Given the description of an element on the screen output the (x, y) to click on. 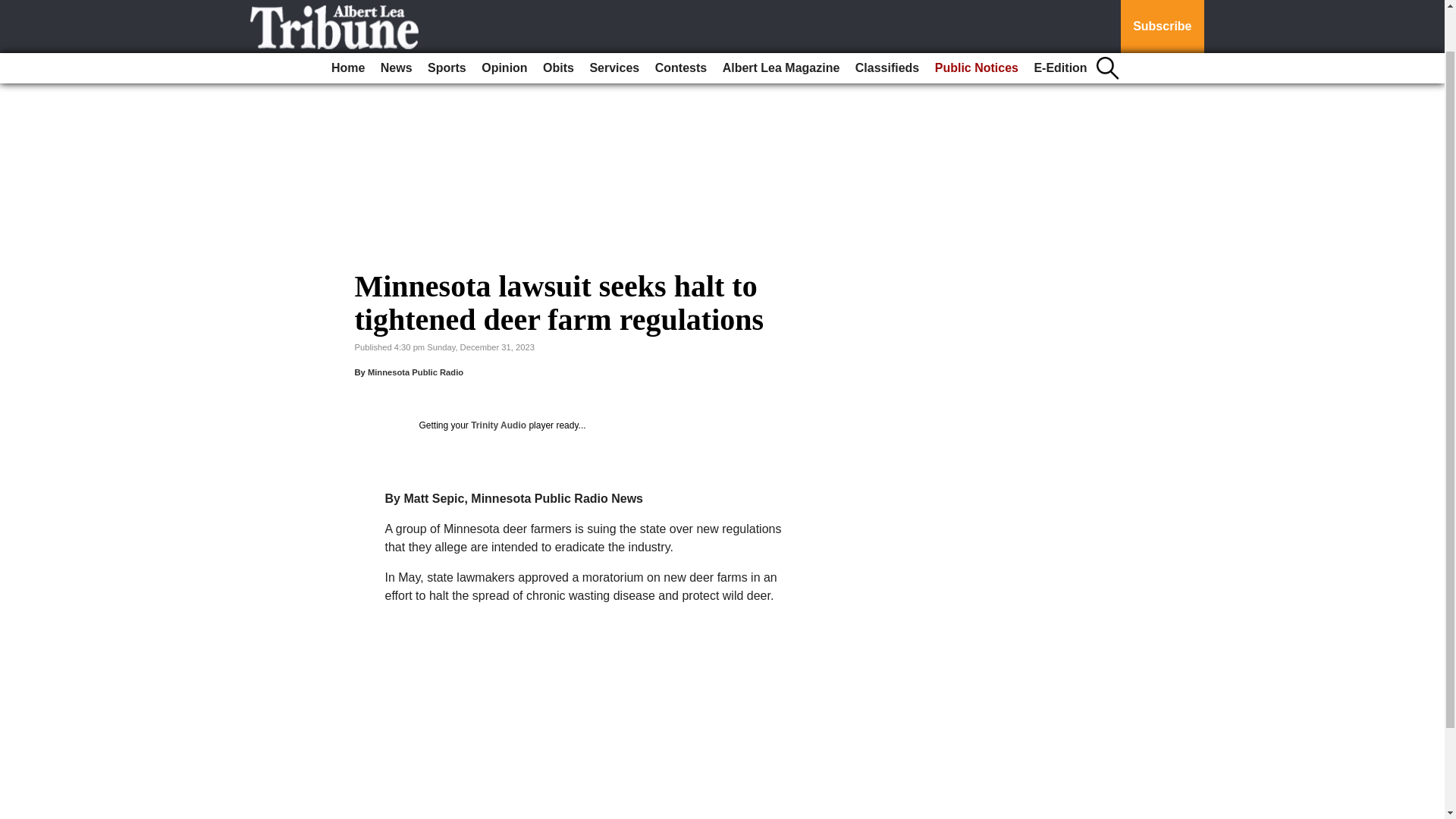
News (396, 19)
Obits (558, 19)
Home (347, 19)
Services (614, 19)
Sports (446, 19)
Subscribe (1162, 2)
Opinion (504, 19)
